Given the description of an element on the screen output the (x, y) to click on. 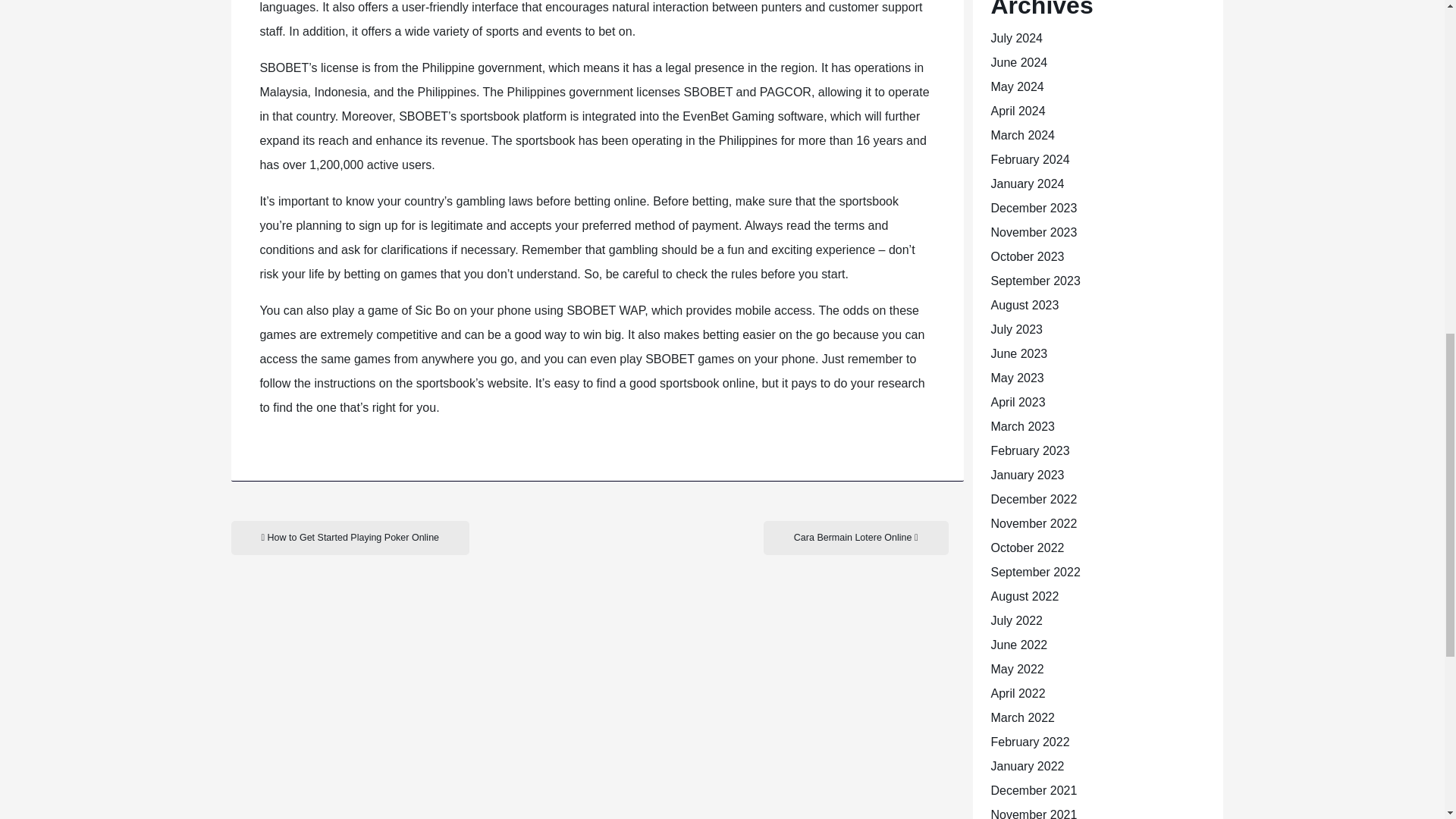
May 2024 (1016, 86)
May 2023 (1016, 377)
June 2022 (1018, 644)
October 2022 (1027, 547)
March 2024 (1022, 134)
How to Get Started Playing Poker Online (349, 537)
January 2023 (1027, 474)
July 2022 (1016, 620)
September 2022 (1035, 571)
April 2023 (1017, 401)
January 2024 (1027, 183)
August 2022 (1024, 595)
February 2024 (1029, 159)
November 2023 (1033, 232)
Cara Bermain Lotere Online (855, 537)
